Given the description of an element on the screen output the (x, y) to click on. 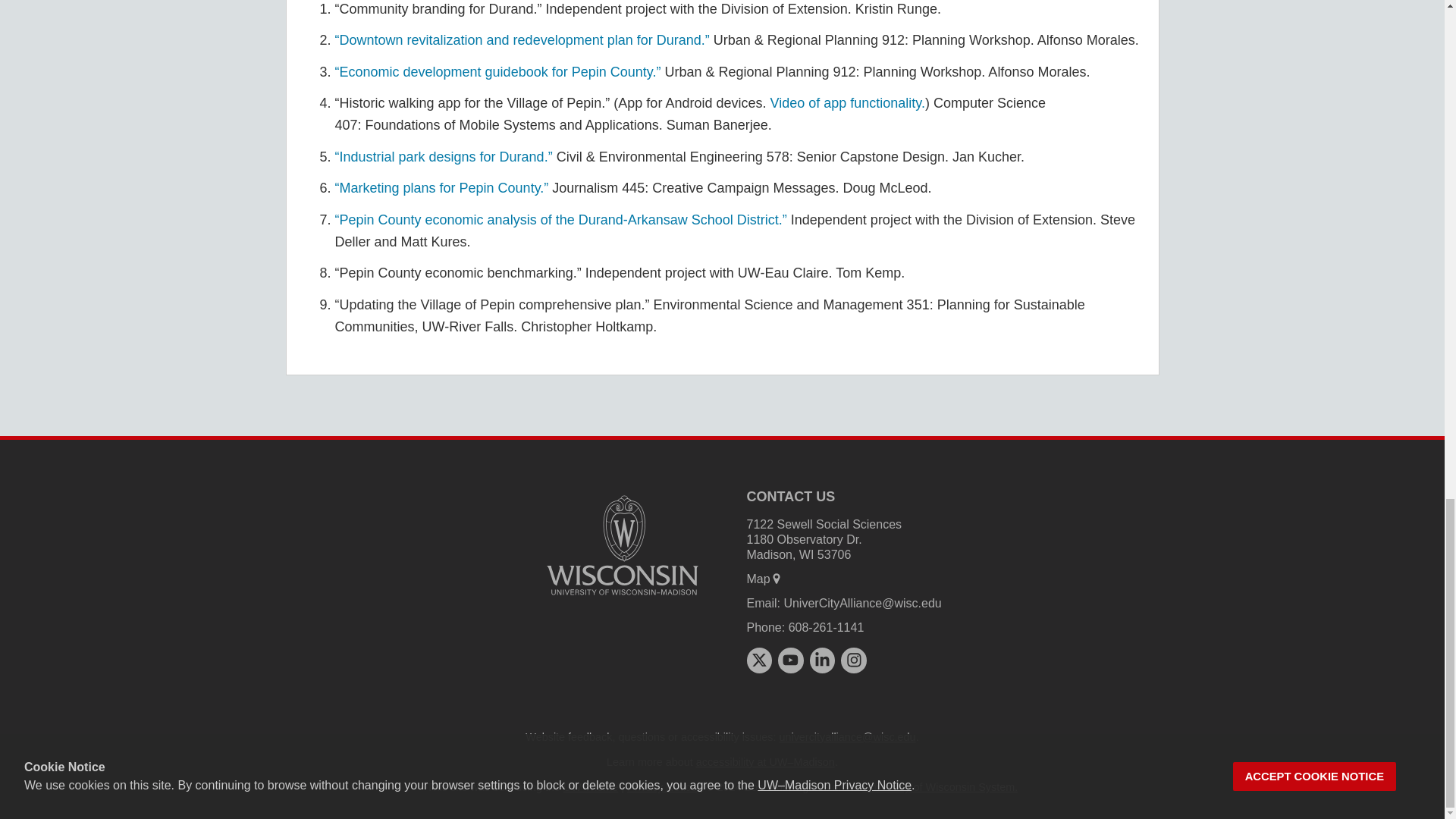
Video of app functionality. (847, 102)
linkedin (821, 659)
University logo that links to main university website (621, 544)
instagram (853, 659)
map marker (776, 578)
youtube (790, 659)
x twitter (759, 659)
